Given the description of an element on the screen output the (x, y) to click on. 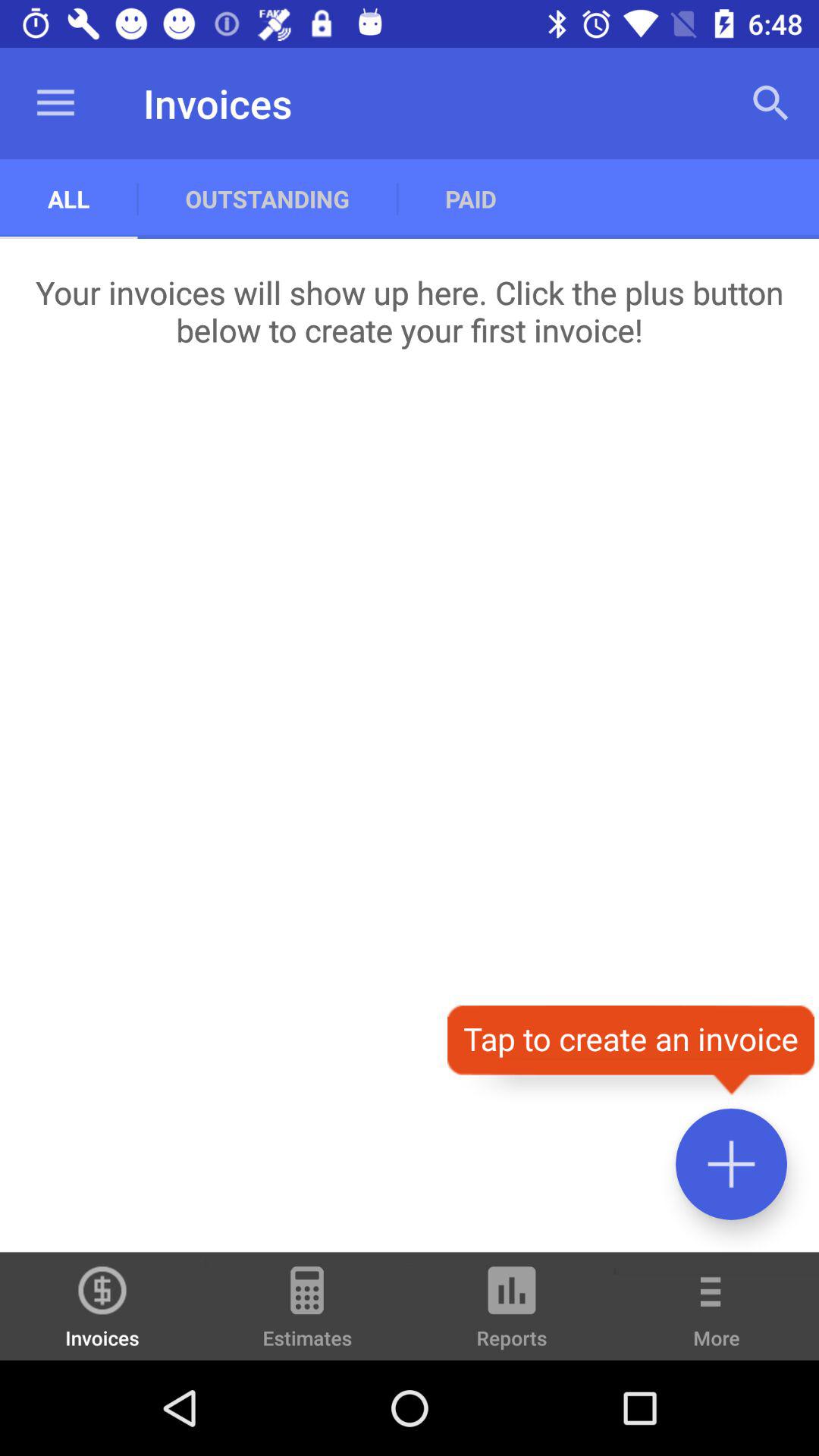
choose app to the right of the paid item (771, 103)
